Given the description of an element on the screen output the (x, y) to click on. 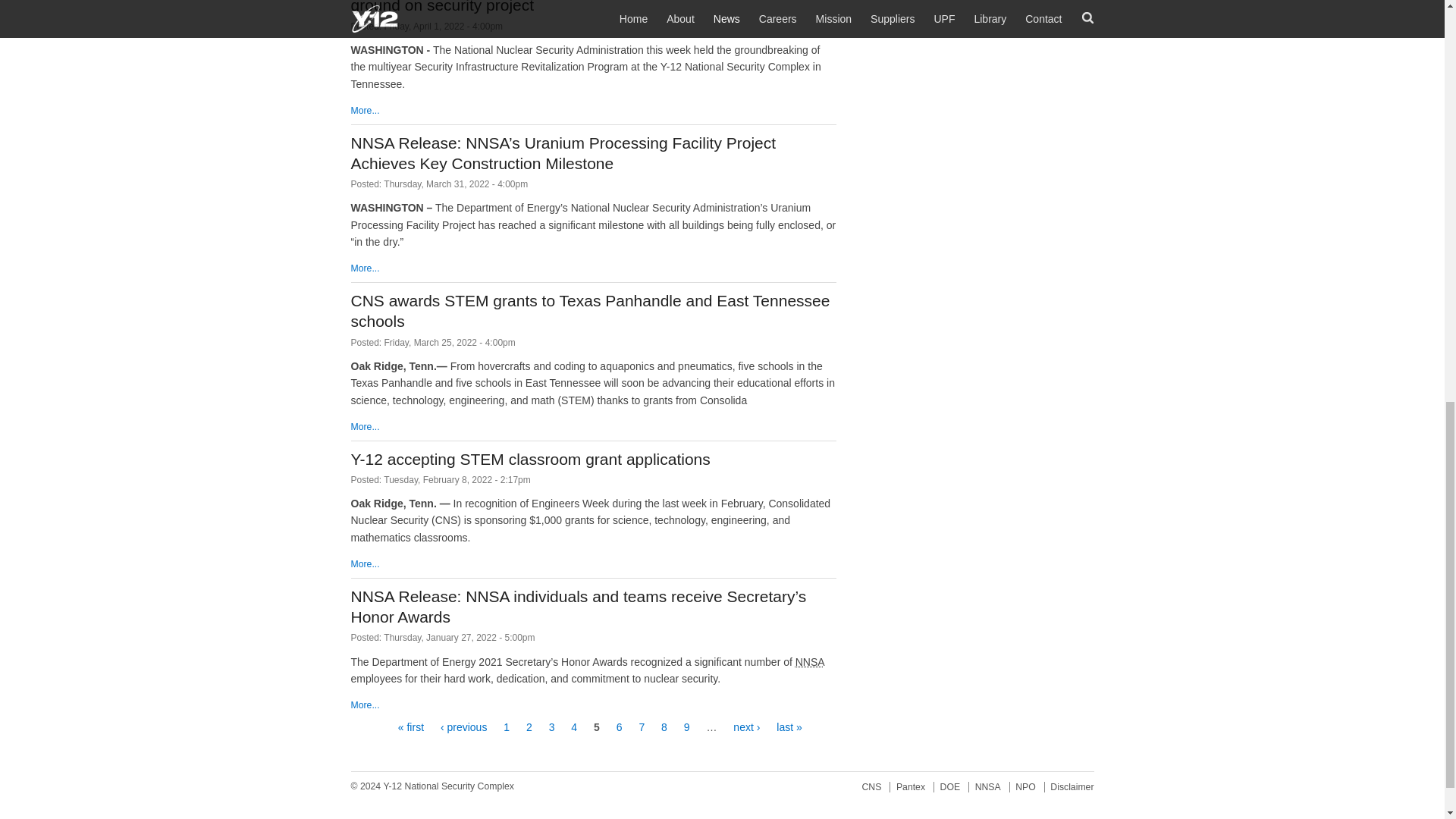
More... (364, 110)
More... (364, 705)
National Nuclear Security Administration (809, 662)
Go to first page (410, 727)
More... (364, 563)
More... (364, 267)
More... (364, 426)
Go to previous page (463, 727)
Y-12 accepting STEM classroom grant applications (530, 458)
